Given the description of an element on the screen output the (x, y) to click on. 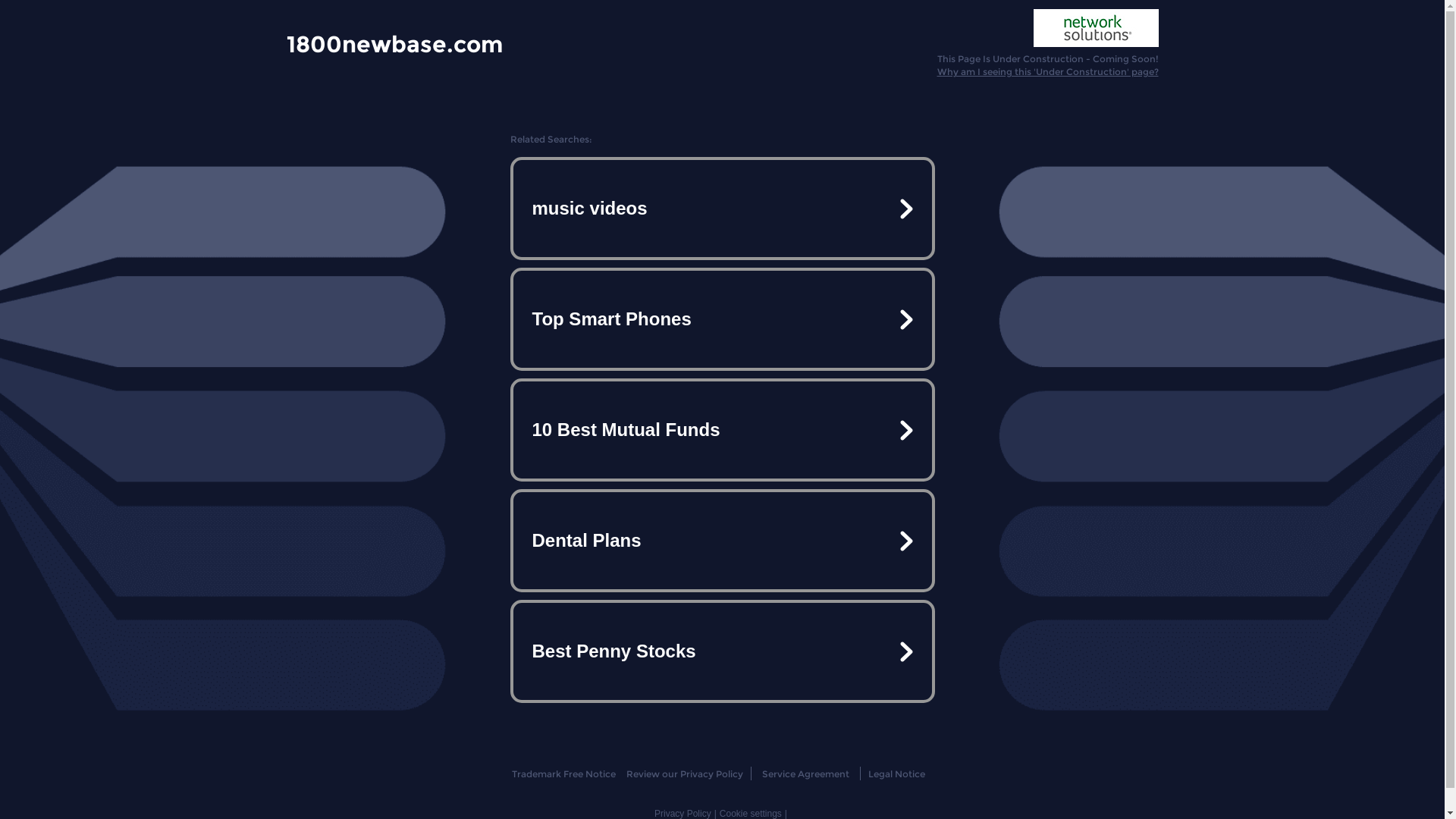
music videos Element type: text (721, 208)
Best Penny Stocks Element type: text (721, 650)
Dental Plans Element type: text (721, 540)
Top Smart Phones Element type: text (721, 318)
Legal Notice Element type: text (896, 773)
Service Agreement Element type: text (805, 773)
Trademark Free Notice Element type: text (563, 773)
Review our Privacy Policy Element type: text (684, 773)
Why am I seeing this 'Under Construction' page? Element type: text (1047, 71)
10 Best Mutual Funds Element type: text (721, 429)
1800newbase.com Element type: text (394, 43)
